Given the description of an element on the screen output the (x, y) to click on. 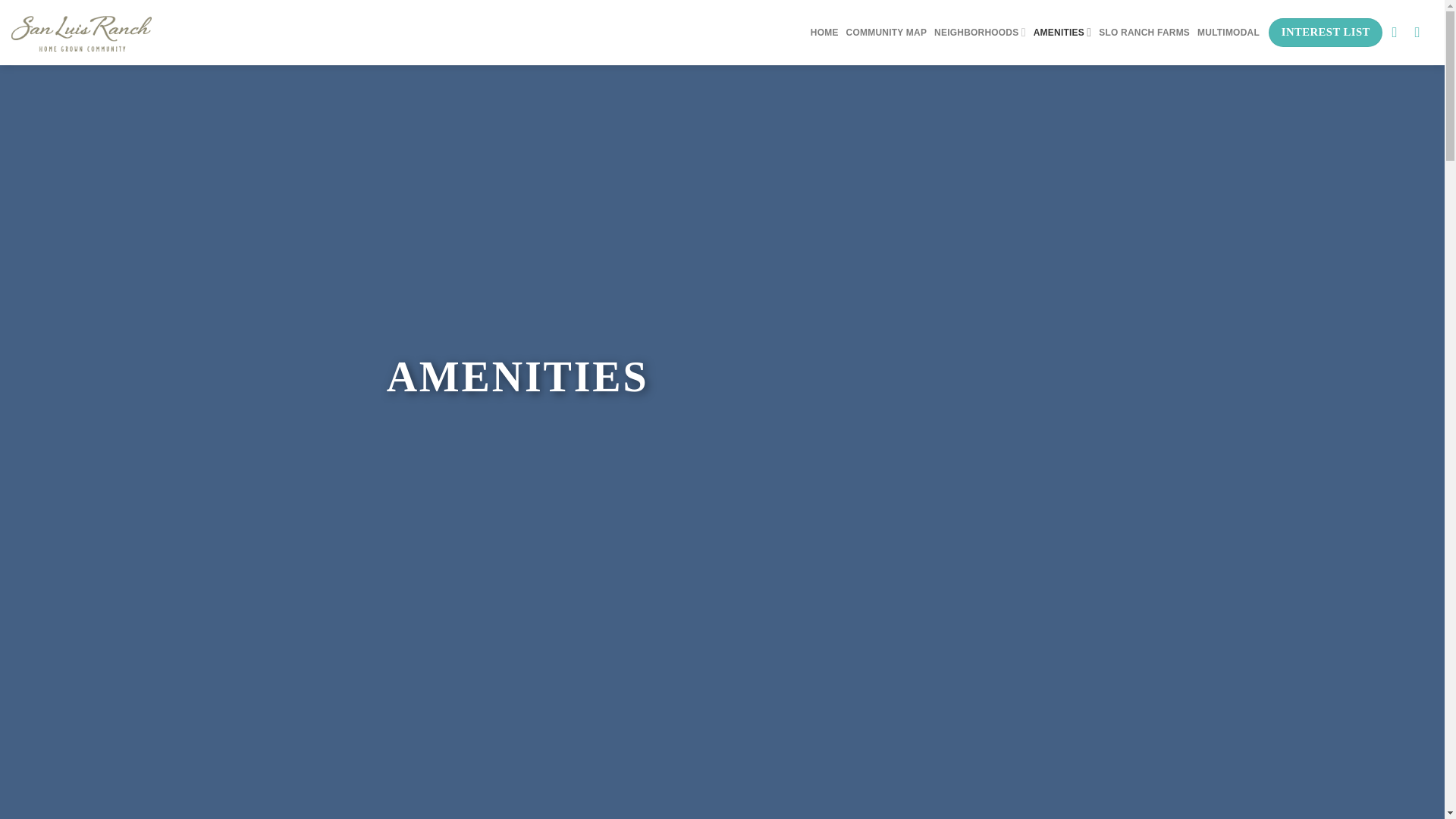
San Luis Ranch - A plan that feels right at home (81, 32)
COMMUNITY MAP (885, 31)
AMENITIES (1062, 31)
Follow on Instagram (1422, 32)
MULTIMODAL (1227, 31)
SLO RANCH FARMS (1144, 31)
INTEREST LIST (1325, 31)
HOME (824, 31)
Sign up for the Interest List (1325, 31)
Follow on Facebook (1398, 32)
NEIGHBORHOODS (980, 31)
